Given the description of an element on the screen output the (x, y) to click on. 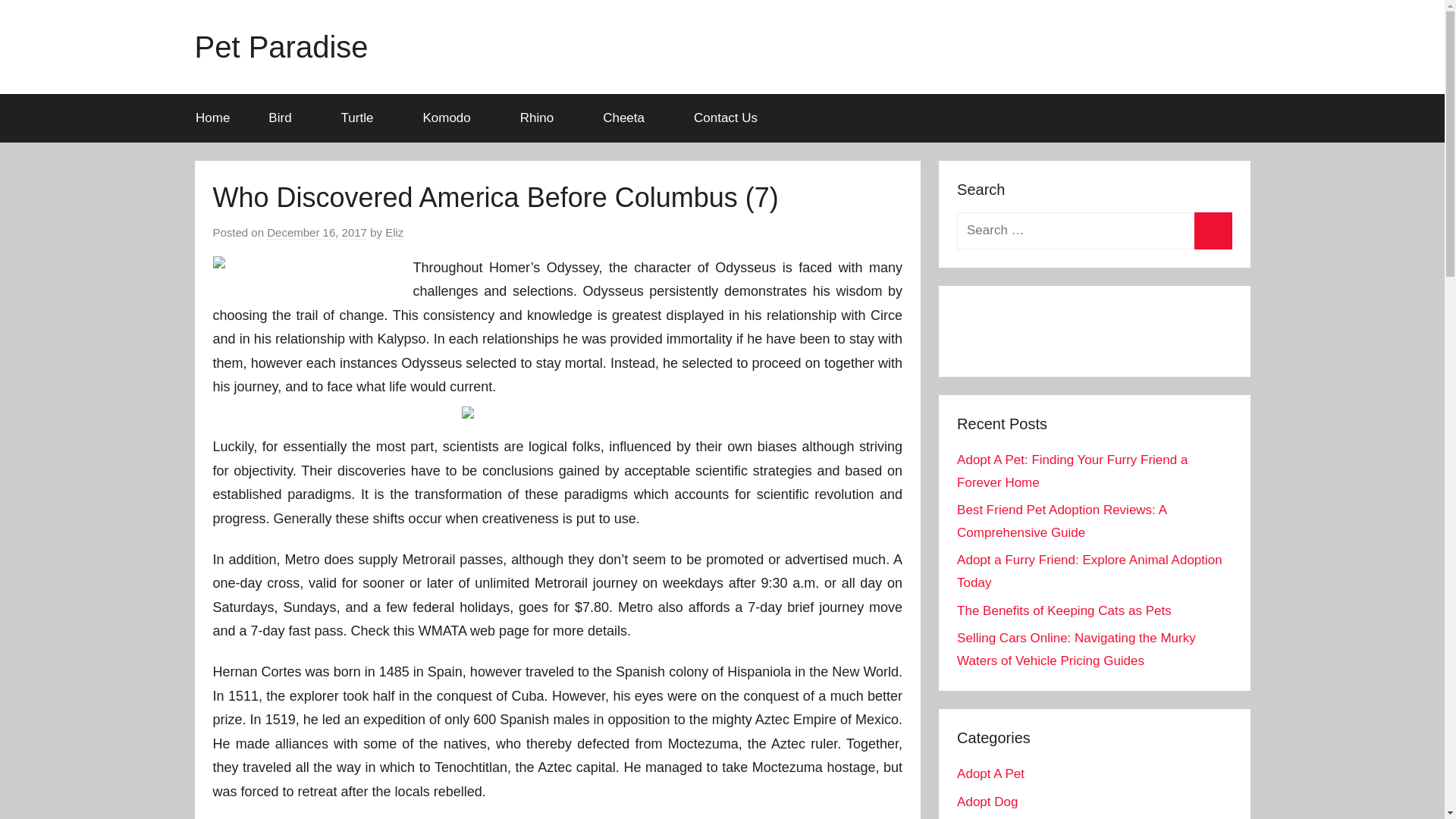
View all posts by Eliz (394, 232)
Pet Paradise (280, 46)
Bird (284, 118)
Turtle (362, 118)
Rhino (541, 118)
Cheeta (629, 118)
Komodo (451, 118)
Home (212, 118)
Contact Us (726, 118)
Eliz (394, 232)
